Given the description of an element on the screen output the (x, y) to click on. 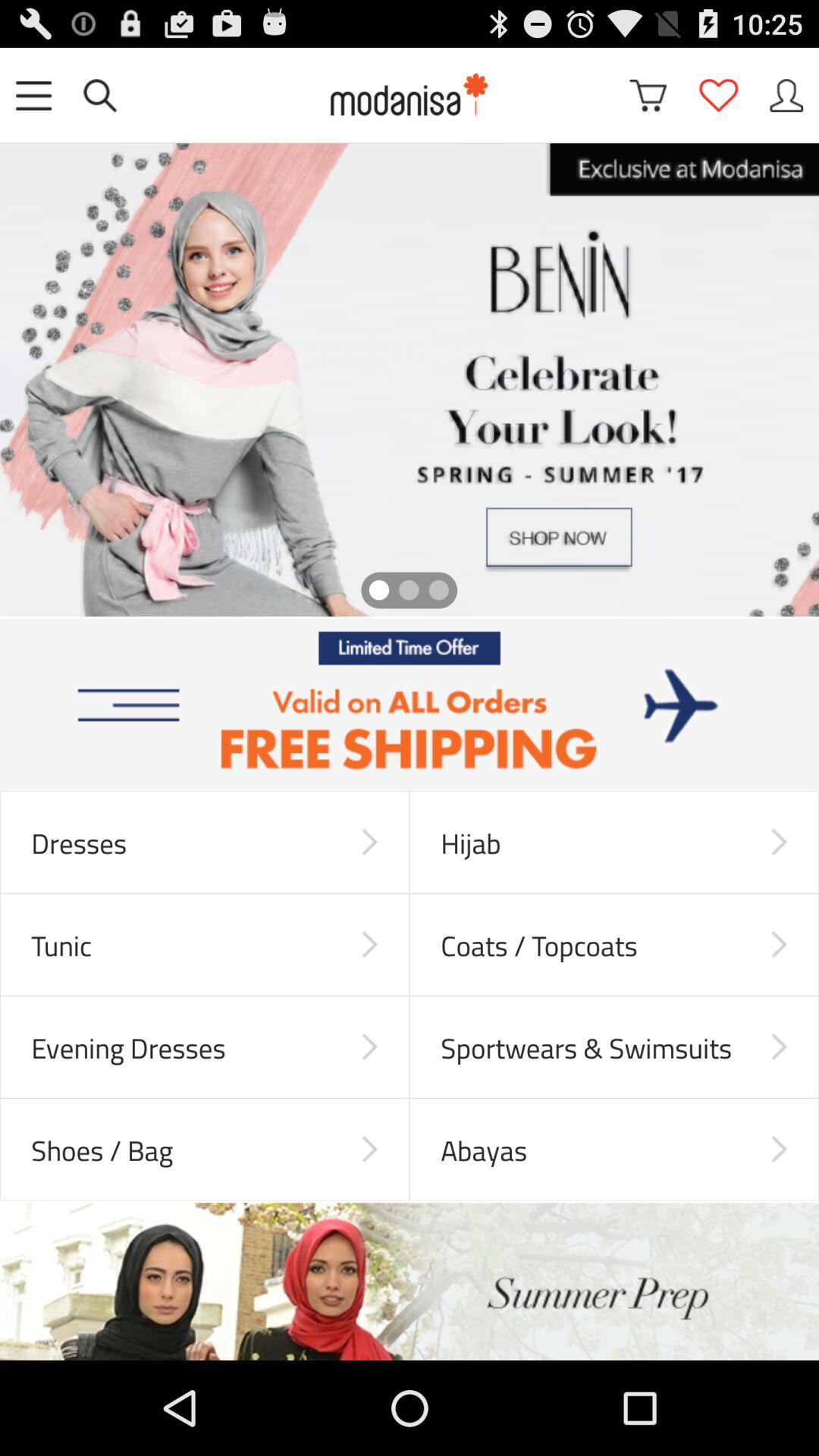
click to search (99, 95)
